Given the description of an element on the screen output the (x, y) to click on. 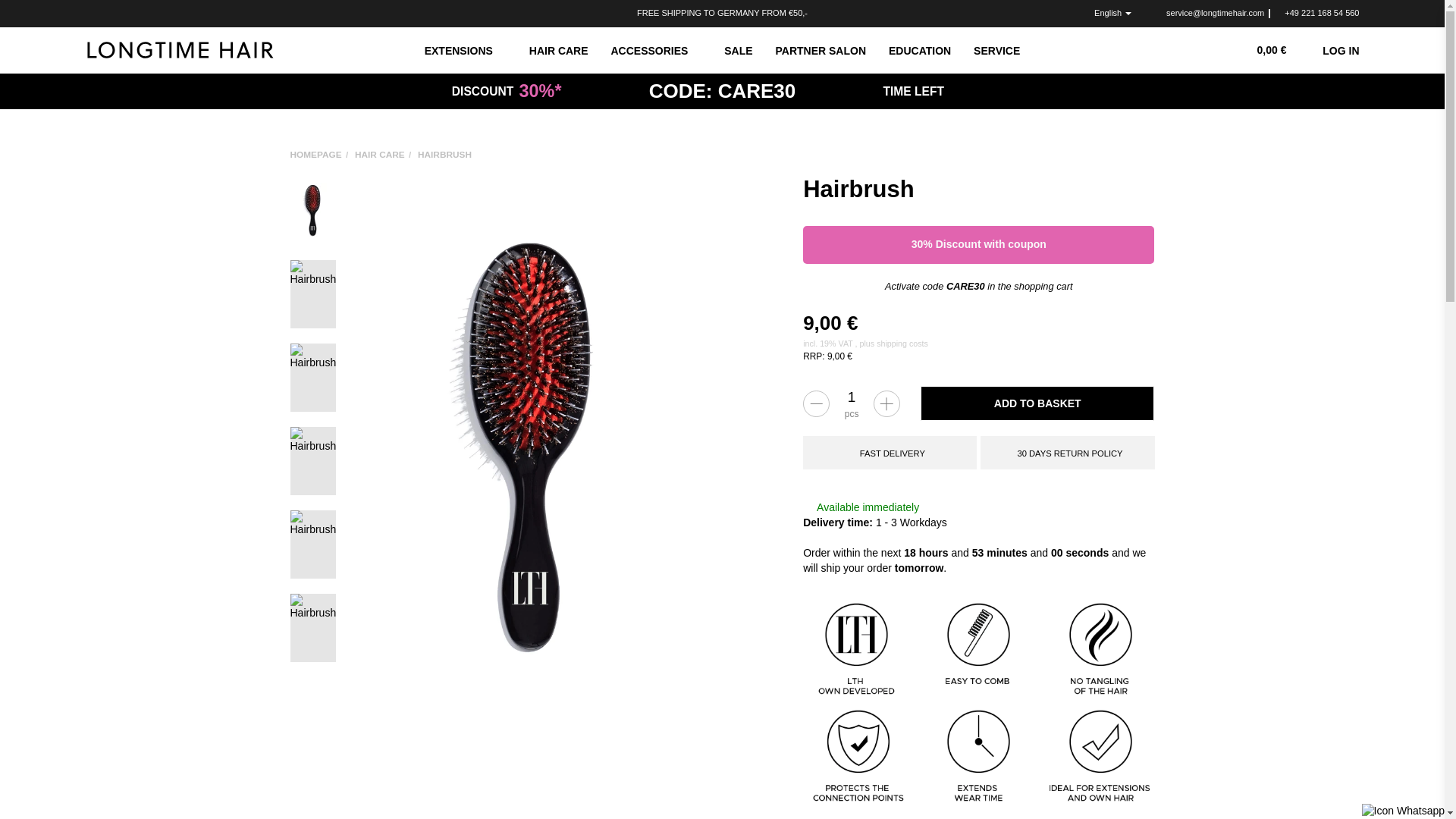
Please select a language. (1105, 13)
1 (851, 396)
EXTENSIONS (465, 50)
SALE (737, 50)
LONGTIME HAIR (179, 49)
Basket (1265, 49)
ACCESSORIES (656, 50)
Partner Salon (820, 50)
Customer Service (996, 50)
  English (1105, 13)
